Given the description of an element on the screen output the (x, y) to click on. 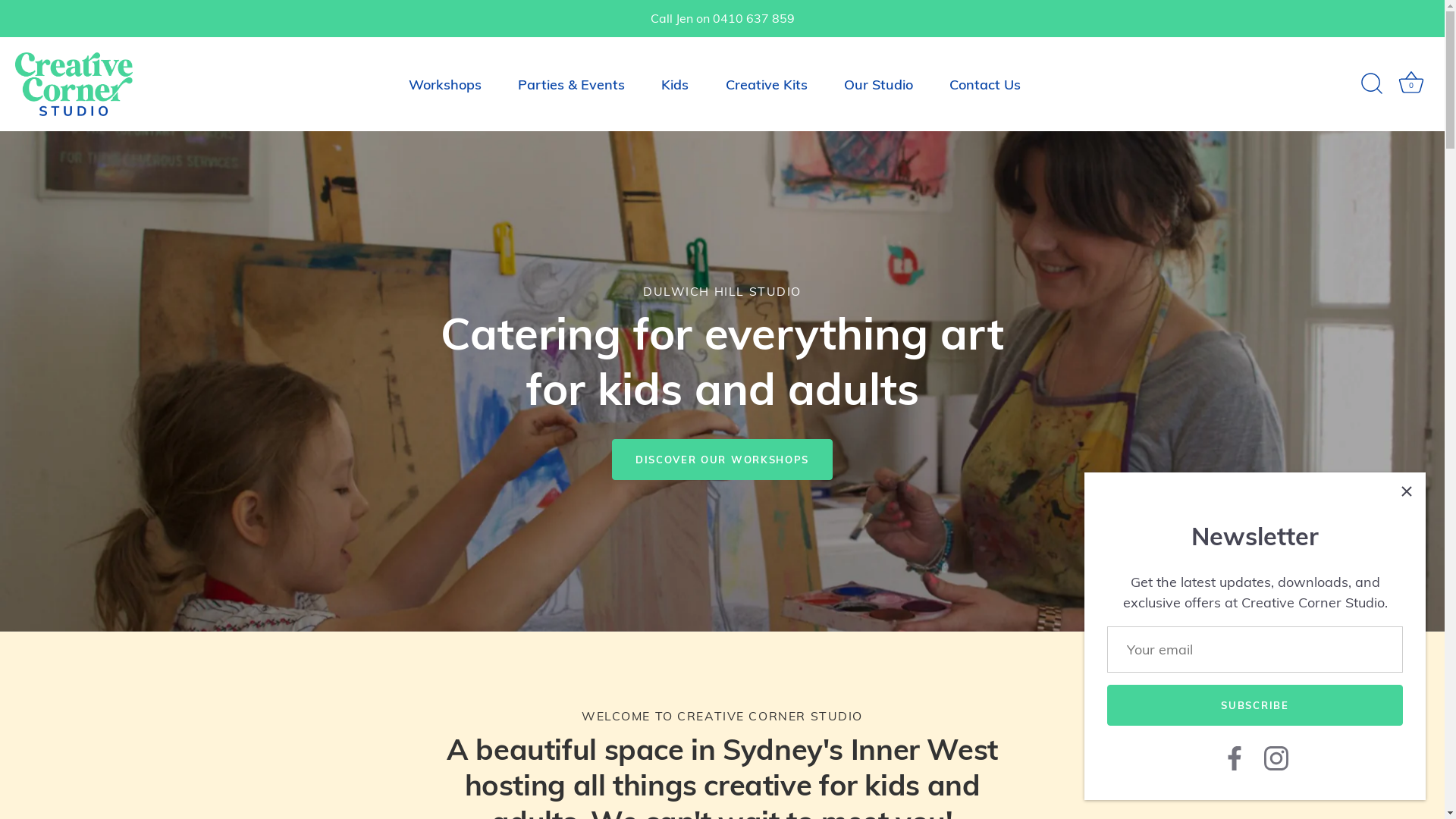
SUBSCRIBE Element type: text (1254, 704)
Parties & Events Element type: text (571, 84)
Workshops Element type: text (444, 84)
Kids Element type: text (675, 84)
Creative Kits Element type: text (766, 84)
Instagram Element type: text (1275, 756)
Contact Us Element type: text (984, 84)
Our Studio Element type: text (877, 84)
Basket
0 Element type: text (1410, 83)
